Given the description of an element on the screen output the (x, y) to click on. 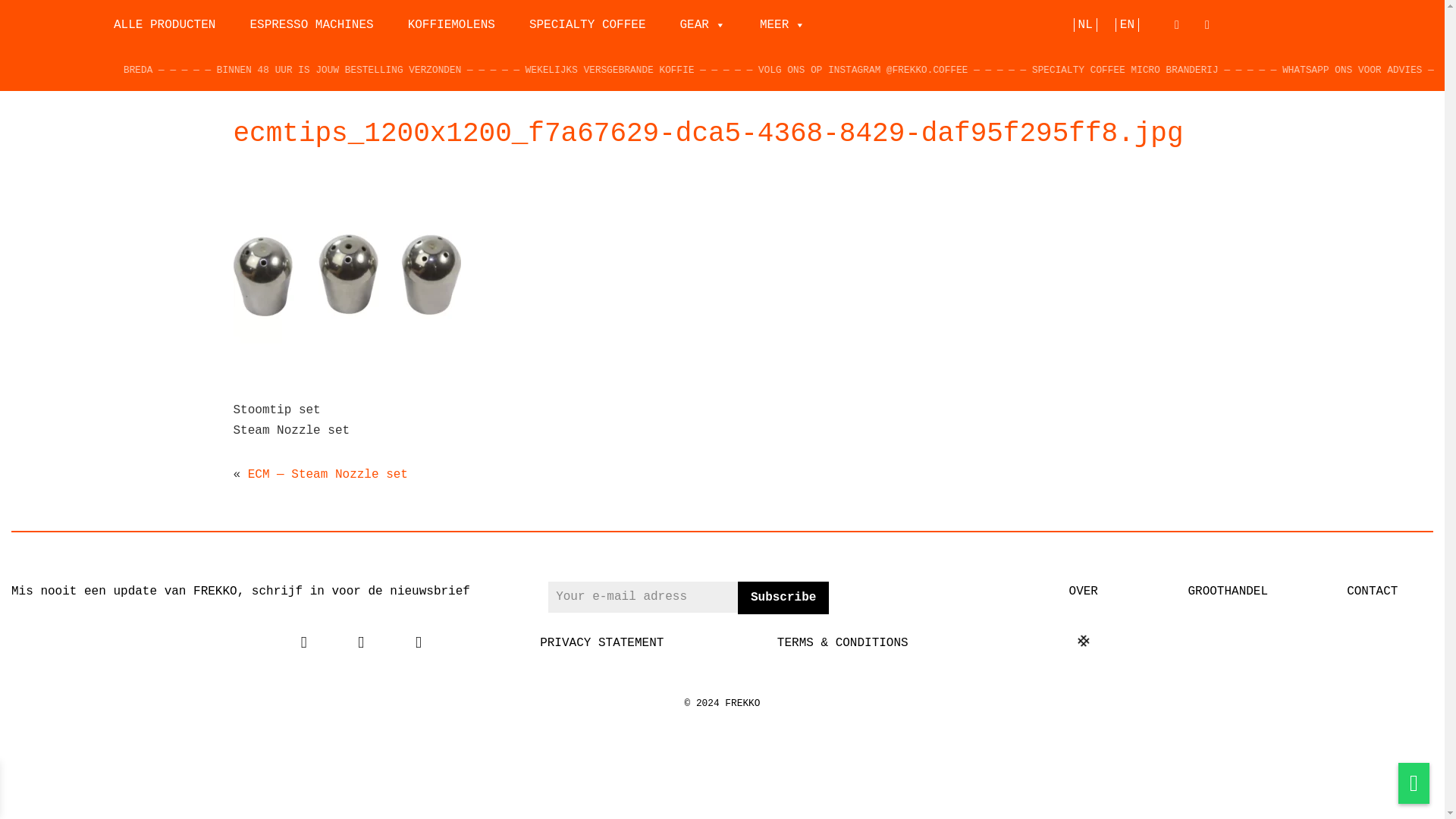
KOFFIEMOLENS (451, 24)
ESPRESSO MACHINES (310, 24)
SPECIALTY COFFEE (587, 24)
FREKKO (52, 45)
GEAR (701, 24)
MEER (782, 24)
FREKKO op Google (360, 643)
FREKKO op Instagram (418, 643)
FREKKO op Facebook (304, 643)
